Given the description of an element on the screen output the (x, y) to click on. 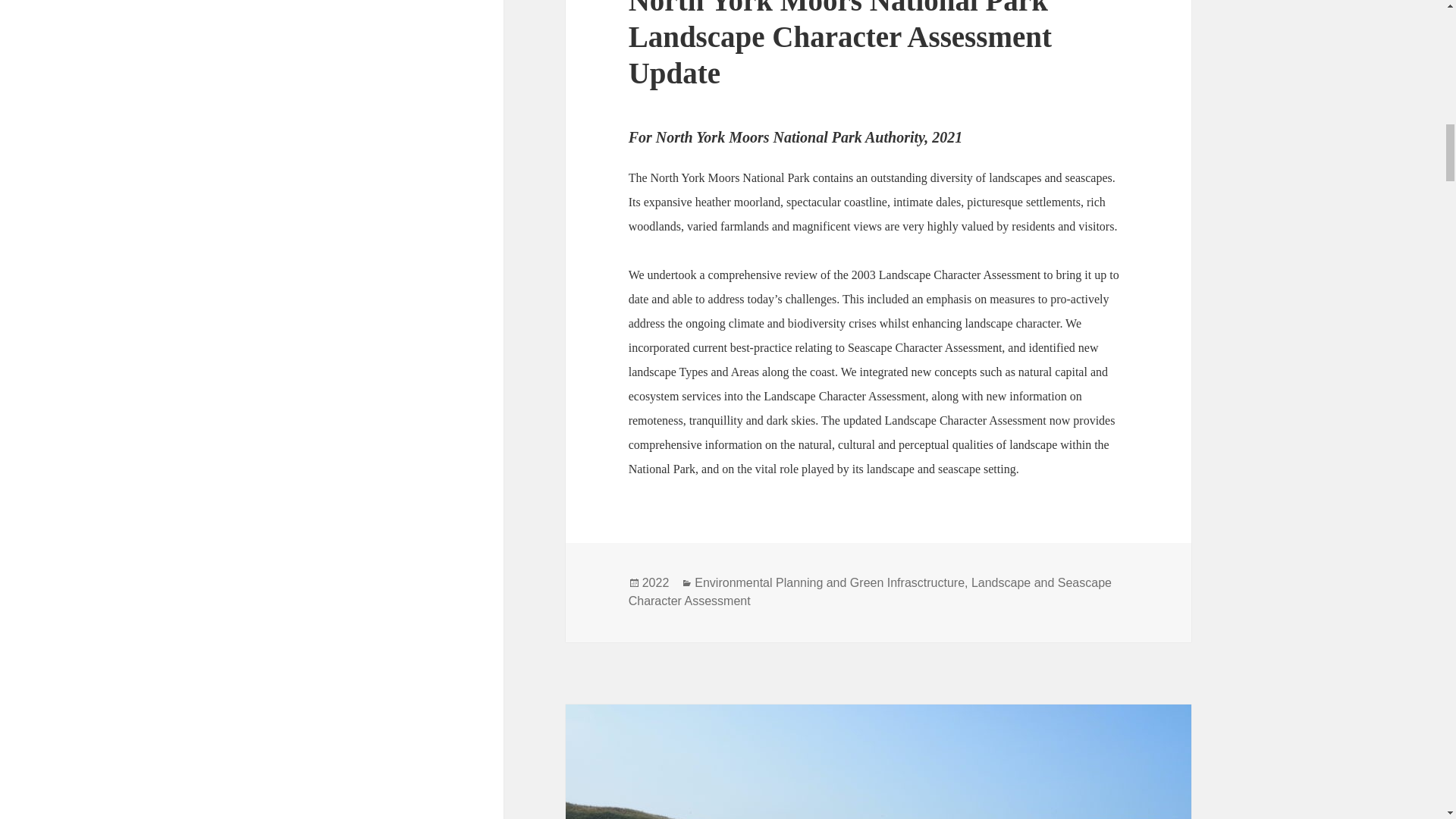
Landscape and Seascape Character Assessment (870, 592)
Environmental Planning and Green Infrasctructure (828, 582)
For North York Moors National Park Authority, 2021 (795, 136)
2022 (655, 582)
